Given the description of an element on the screen output the (x, y) to click on. 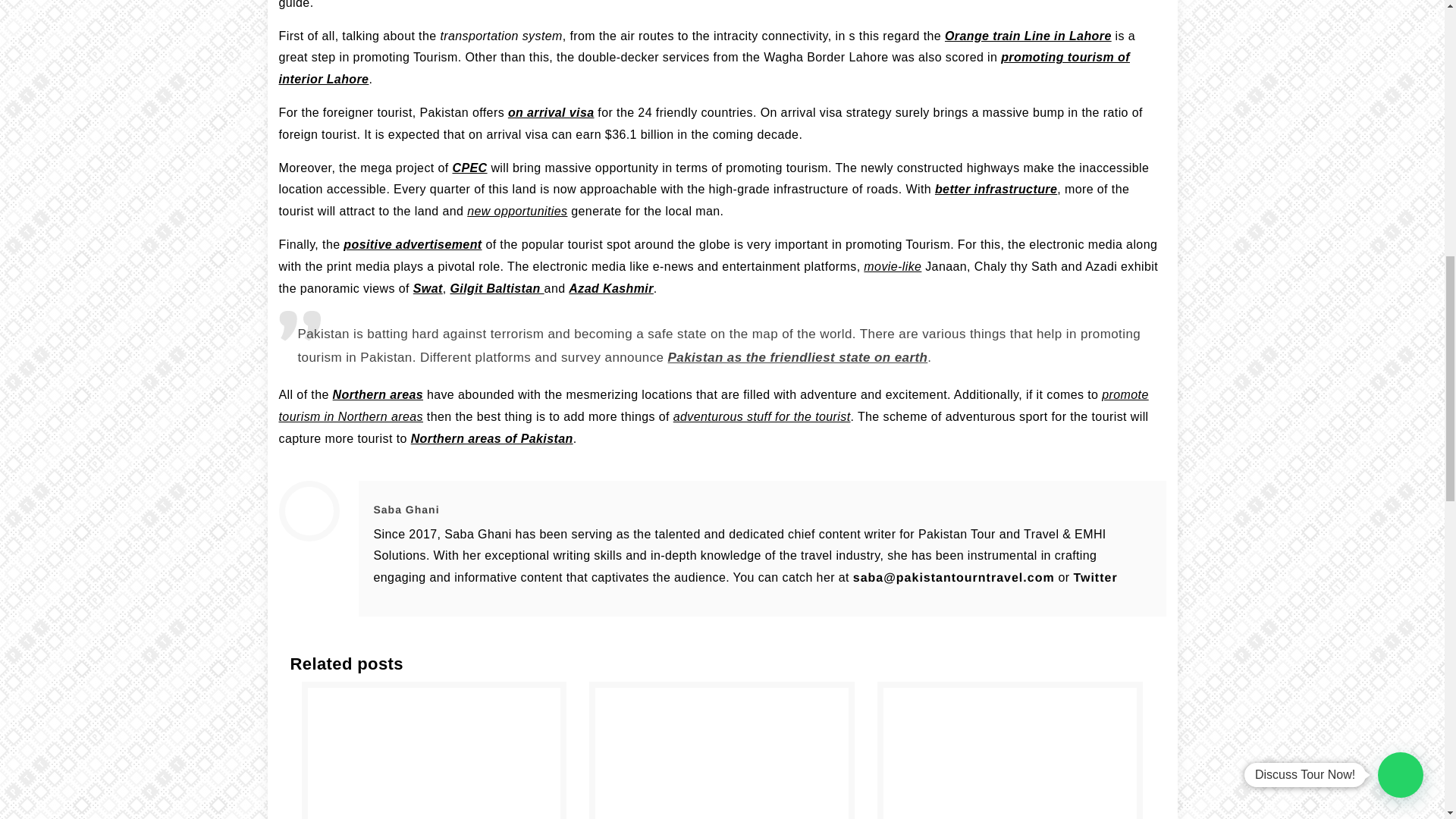
Twitter (1094, 577)
Saba Ghani (405, 509)
